Given the description of an element on the screen output the (x, y) to click on. 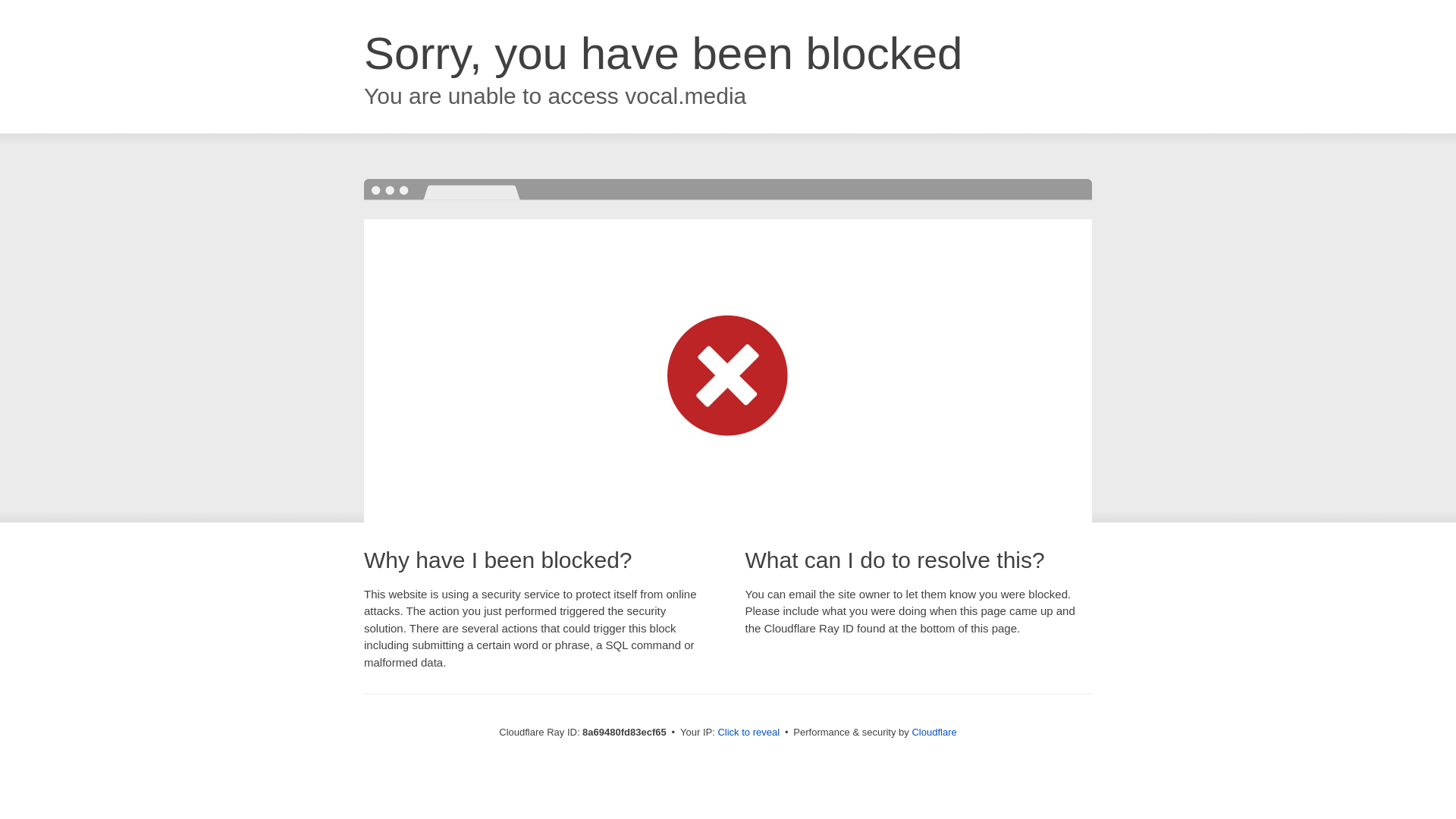
Cloudflare (933, 731)
Click to reveal (747, 732)
